Given the description of an element on the screen output the (x, y) to click on. 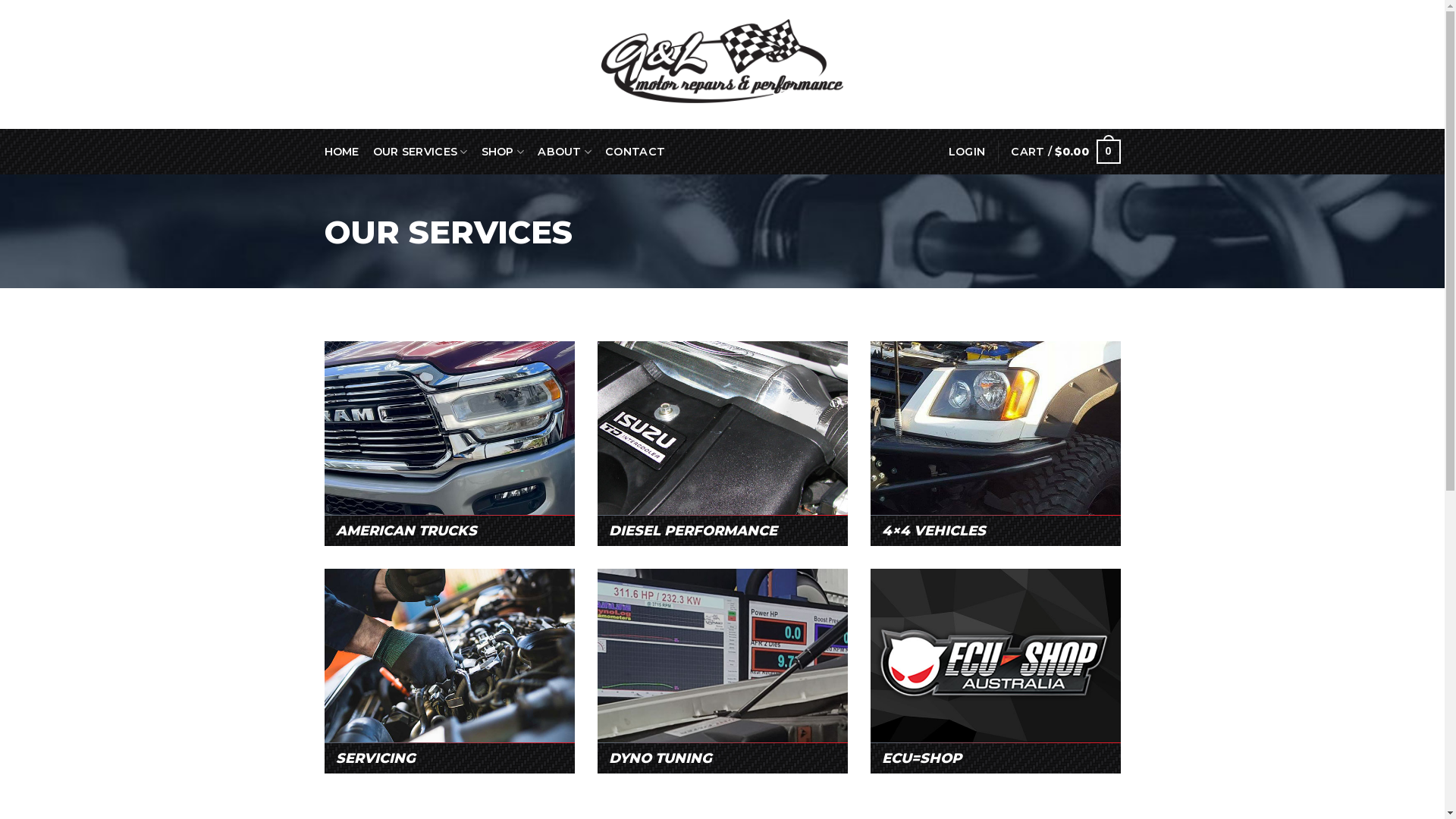
LOGIN Element type: text (966, 151)
ABOUT Element type: text (564, 151)
CART / $0.00
0 Element type: text (1065, 151)
CONTACT Element type: text (635, 151)
OUR SERVICES Element type: text (420, 151)
HOME Element type: text (341, 151)
SHOP Element type: text (502, 151)
